Given the description of an element on the screen output the (x, y) to click on. 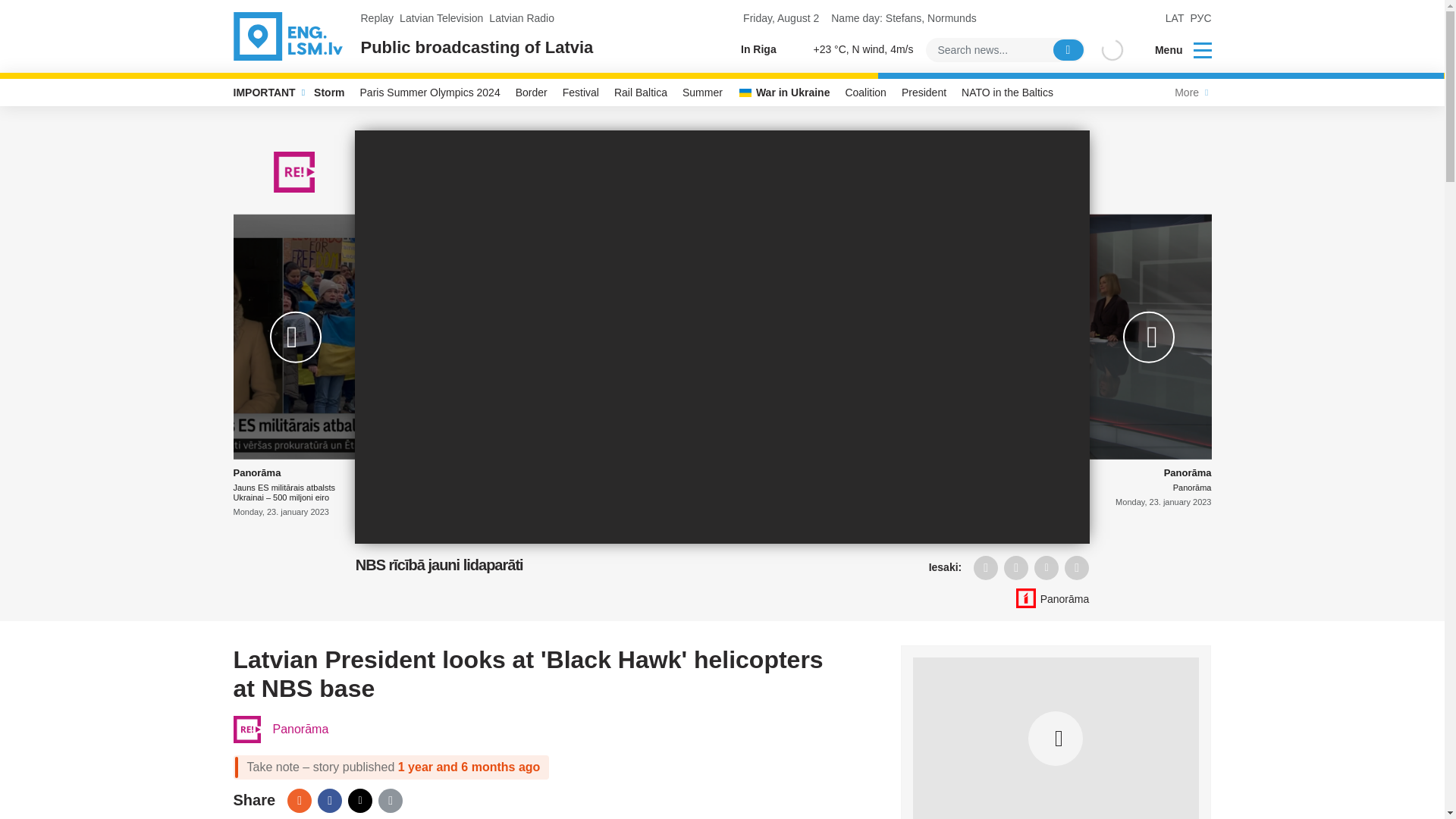
Storm (328, 92)
Draugiem (298, 800)
Festival (580, 92)
Coalition (865, 92)
Paris Summer Olympics 2024 (430, 92)
President (923, 92)
Rail Baltica (641, 92)
Facebook (1015, 567)
Topics (1202, 49)
Name day: Stefans, Normunds (903, 18)
Facebook (329, 800)
NATO in the Baltics (1007, 92)
Summer (702, 92)
Draugiem (985, 567)
Latvian Radio (521, 18)
